Given the description of an element on the screen output the (x, y) to click on. 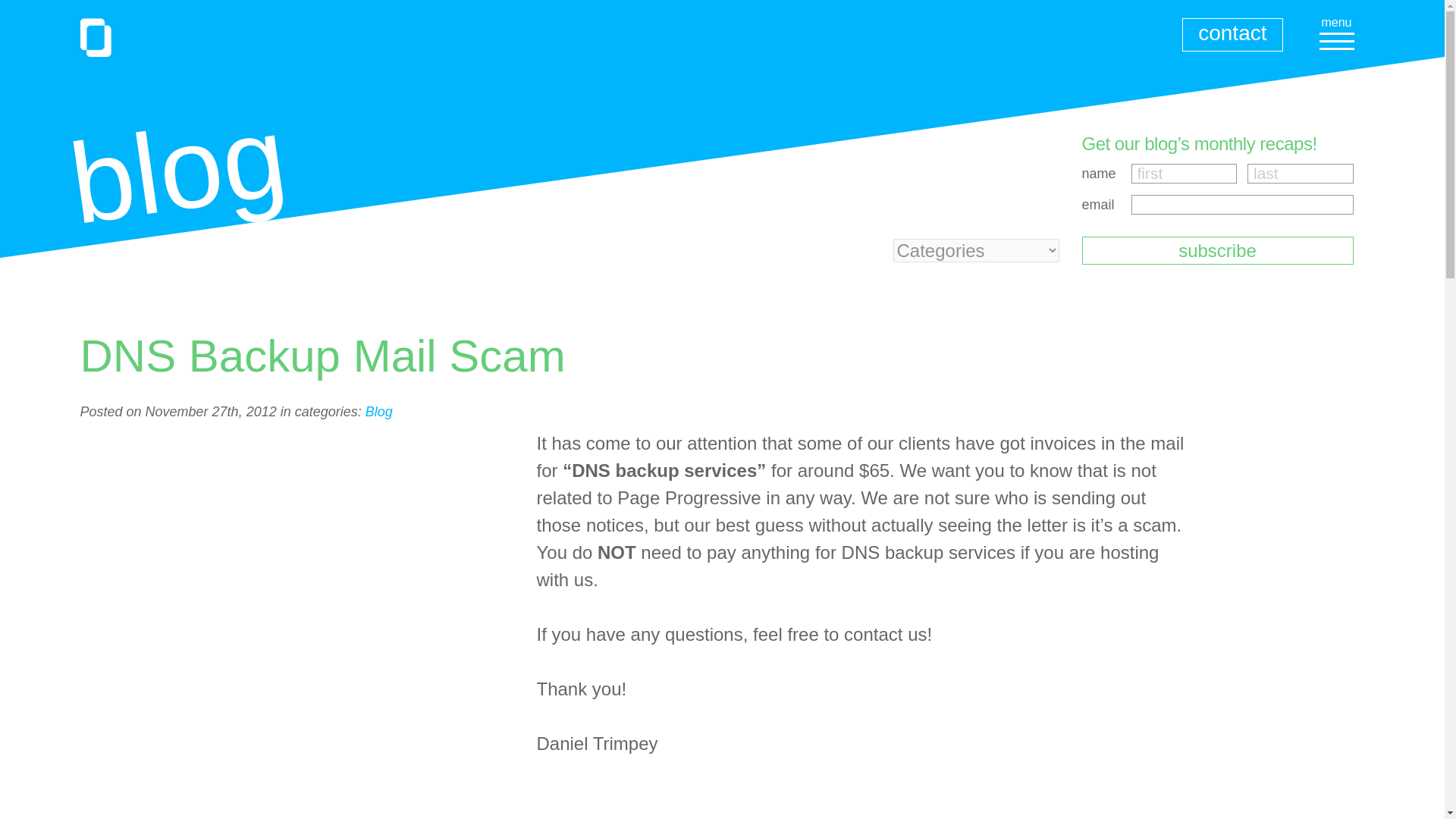
subscribe (1216, 250)
scam-alert (1296, 483)
contact (1232, 34)
Blog (379, 411)
menu (1336, 30)
